Given the description of an element on the screen output the (x, y) to click on. 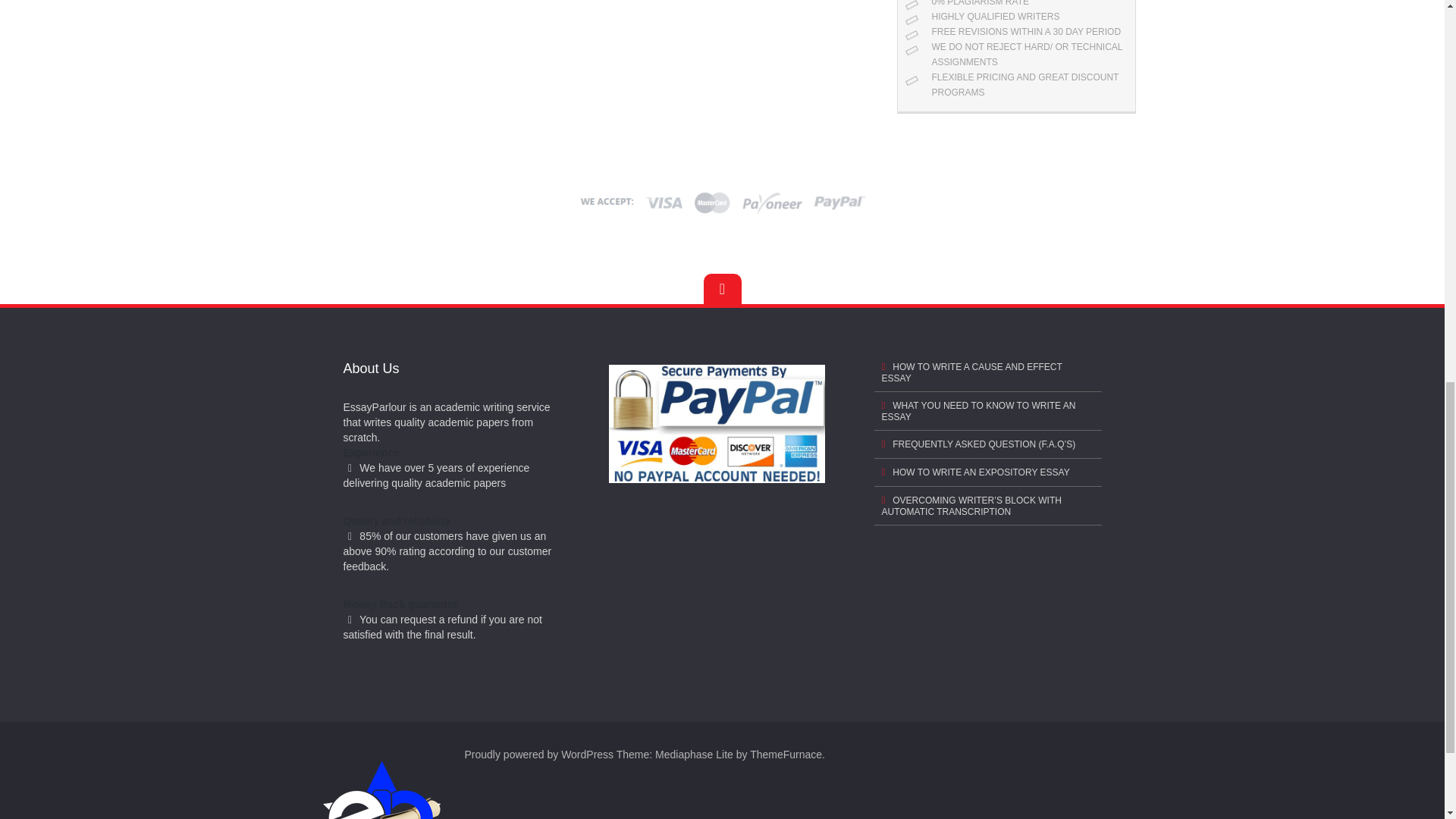
WHAT YOU NEED TO KNOW TO WRITE AN ESSAY (986, 411)
HOW TO WRITE AN EXPOSITORY ESSAY (986, 472)
Proudly powered by WordPress (538, 754)
HOW TO WRITE A CAUSE AND EFFECT ESSAY (986, 372)
ThemeFurnace (785, 754)
